Given the description of an element on the screen output the (x, y) to click on. 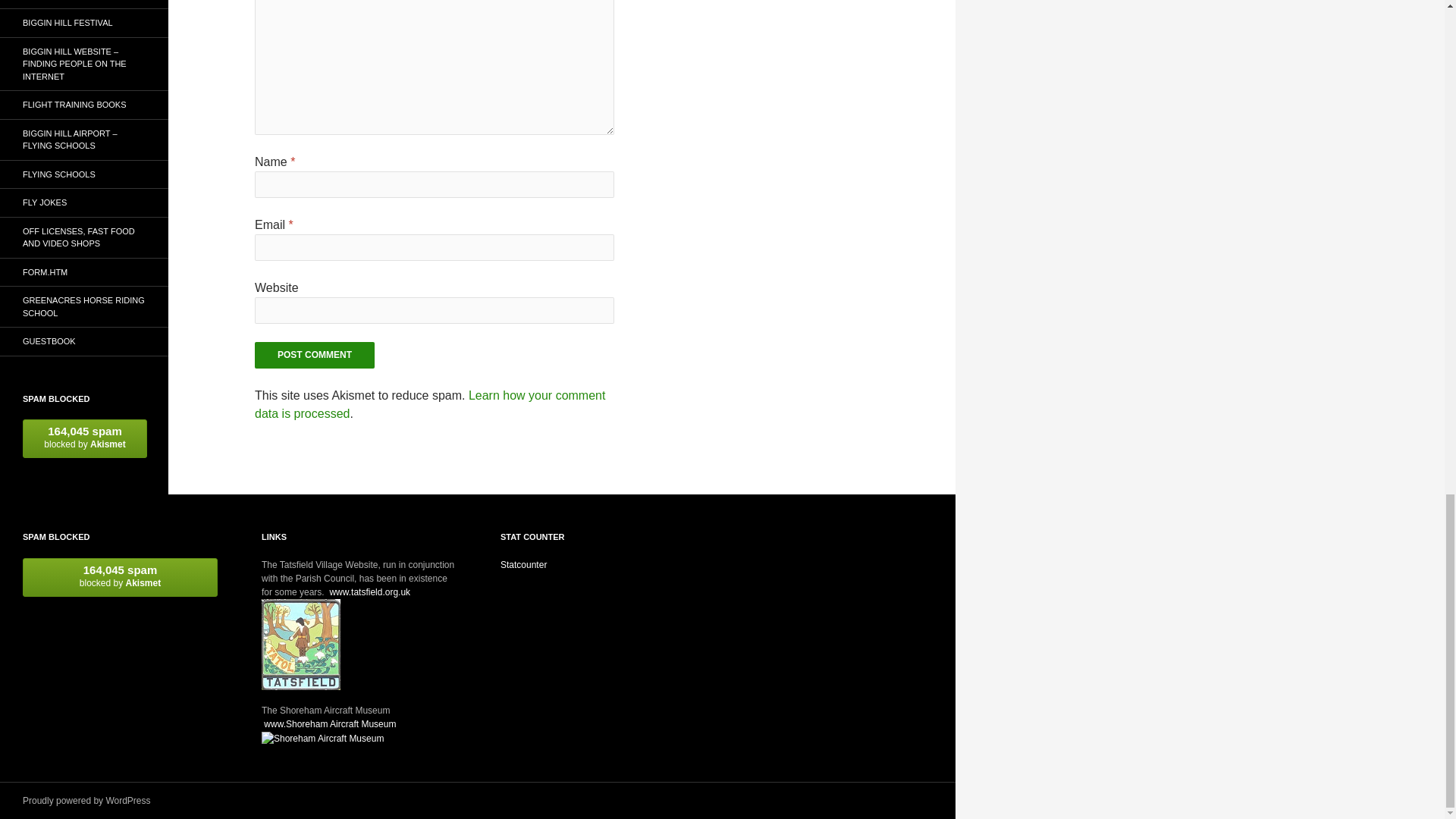
Post Comment (314, 355)
Learn how your comment data is processed (429, 404)
Post Comment (314, 355)
